Given the description of an element on the screen output the (x, y) to click on. 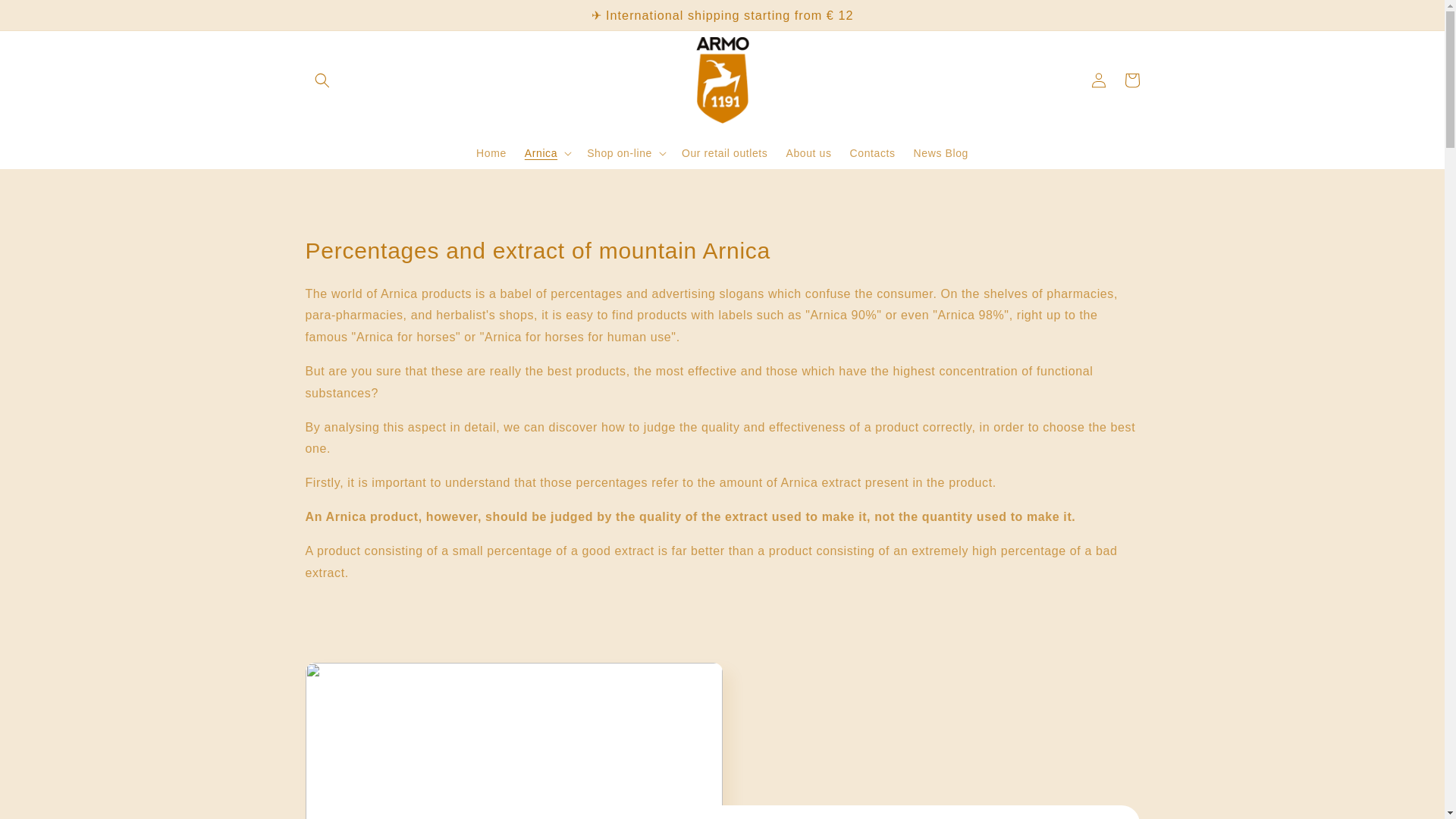
Home (491, 152)
Log in (1098, 80)
Skip to content (45, 17)
News Blog (940, 152)
About us (808, 152)
Our retail outlets (724, 152)
Cart (1131, 80)
Contacts (872, 152)
